Given the description of an element on the screen output the (x, y) to click on. 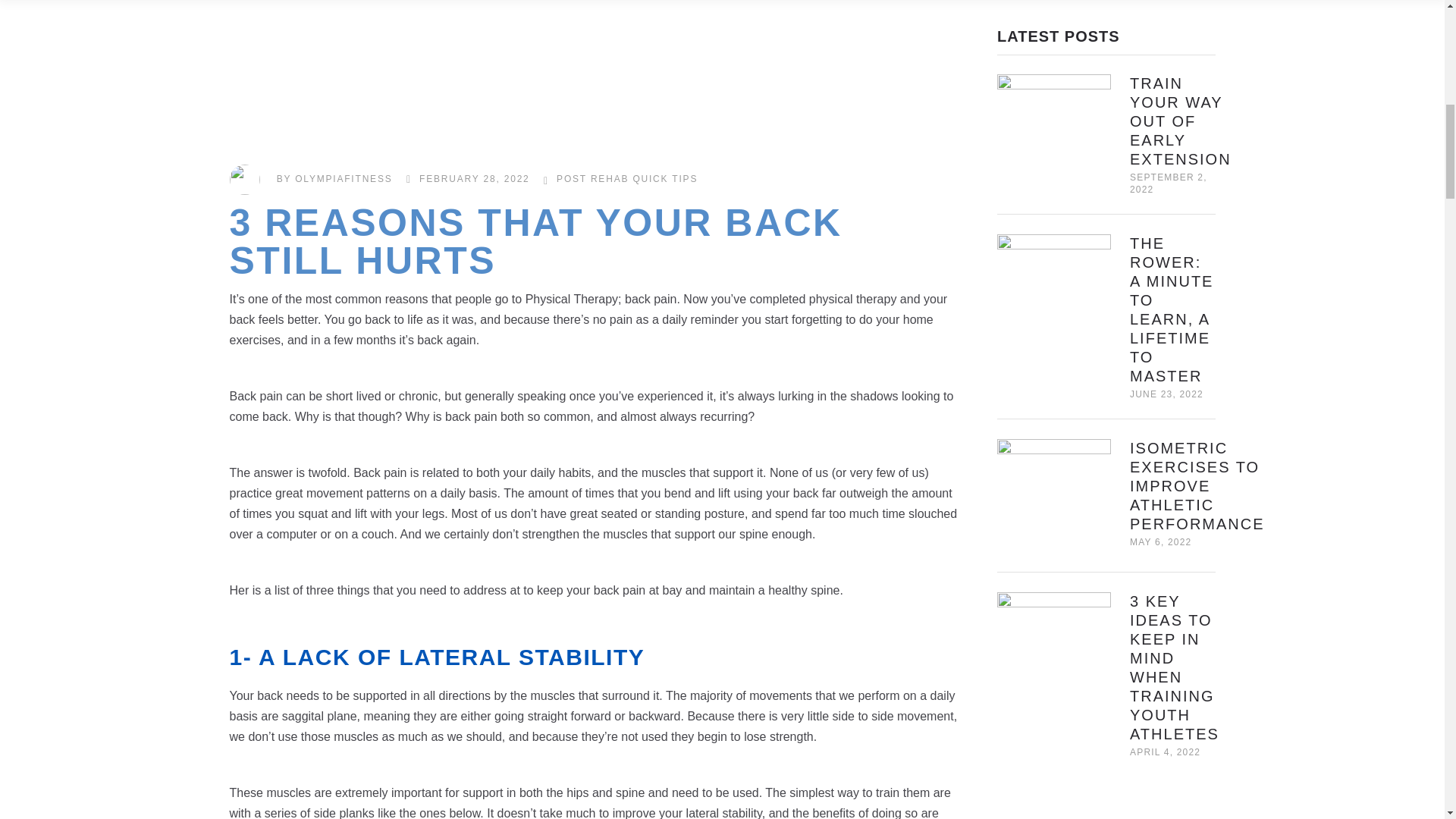
Train Your Way Out of Early Extension (1053, 131)
The Rower: A Minute to Learn, A Lifetime to Master (1053, 291)
Isometric Exercises To Improve Athletic Performance (1197, 485)
Isometric Exercises To Improve Athletic Performance (1053, 495)
Train Your Way Out of Early Extension (1180, 121)
3 Key Ideas to Keep in Mind When Training Youth Athletes (1053, 648)
